Given the description of an element on the screen output the (x, y) to click on. 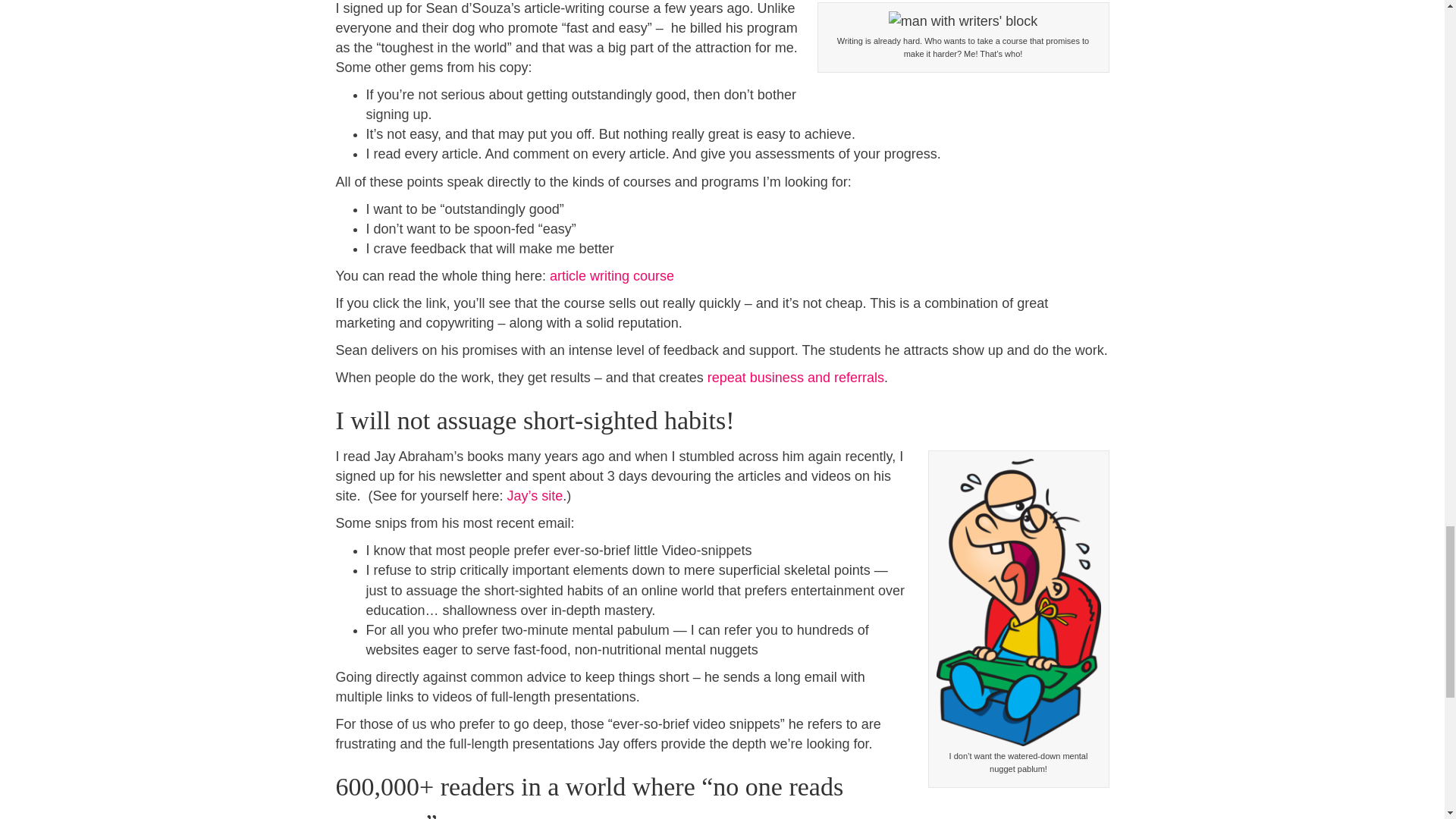
article writing course (612, 275)
repeat business and referrals (795, 377)
